Given the description of an element on the screen output the (x, y) to click on. 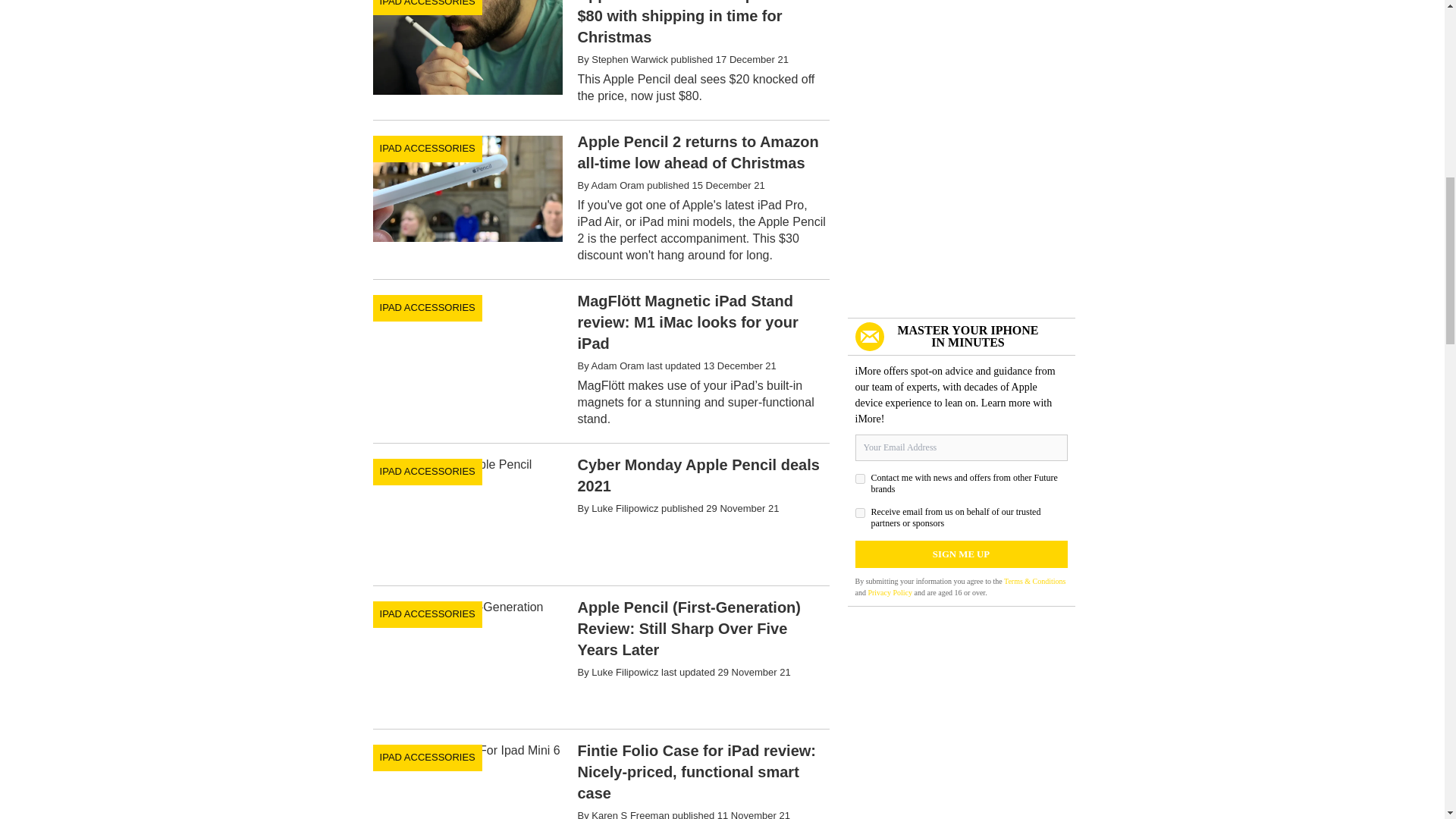
on (860, 479)
on (860, 512)
Sign me up (961, 554)
